Given the description of an element on the screen output the (x, y) to click on. 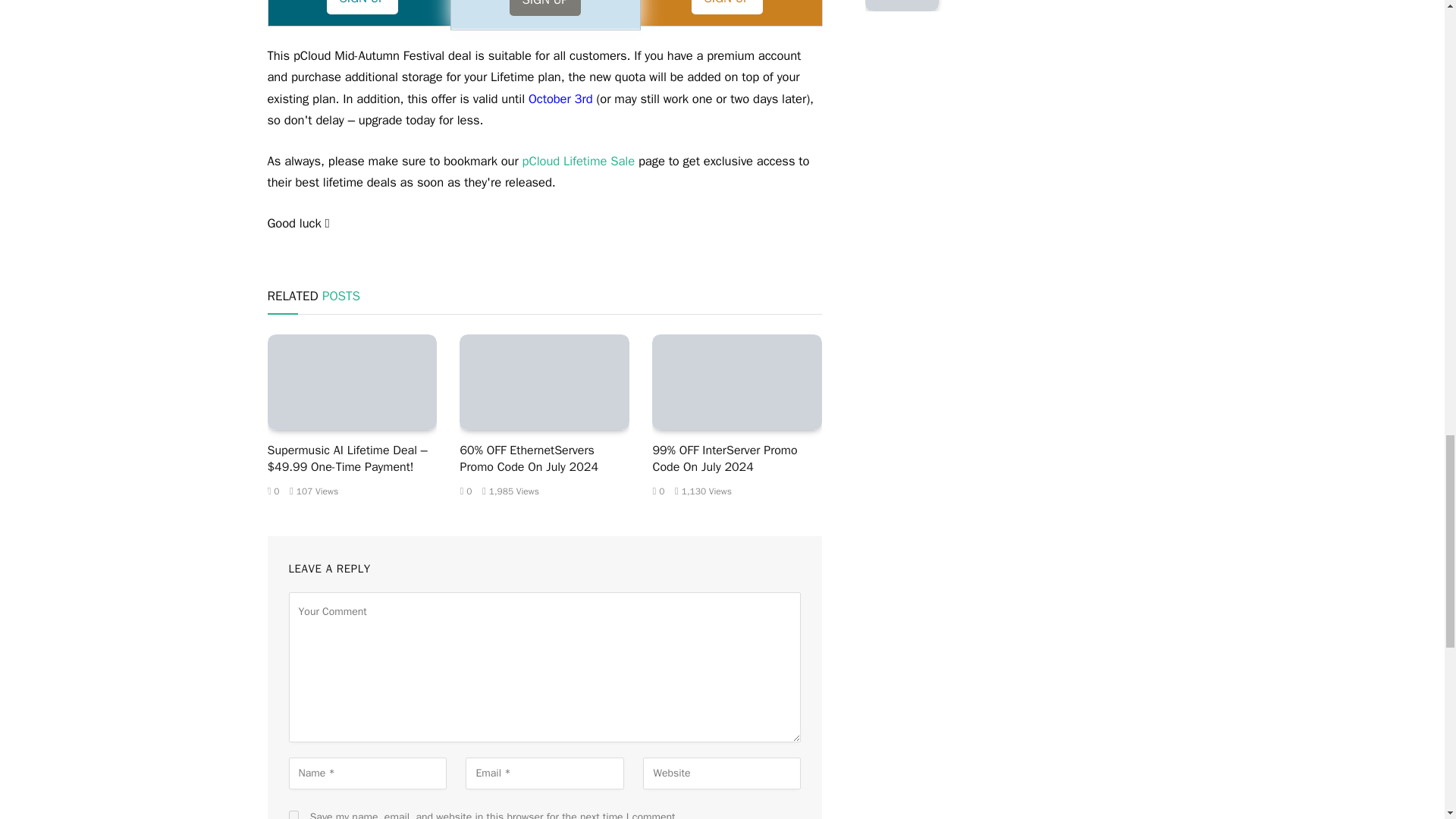
yes (293, 814)
